Given the description of an element on the screen output the (x, y) to click on. 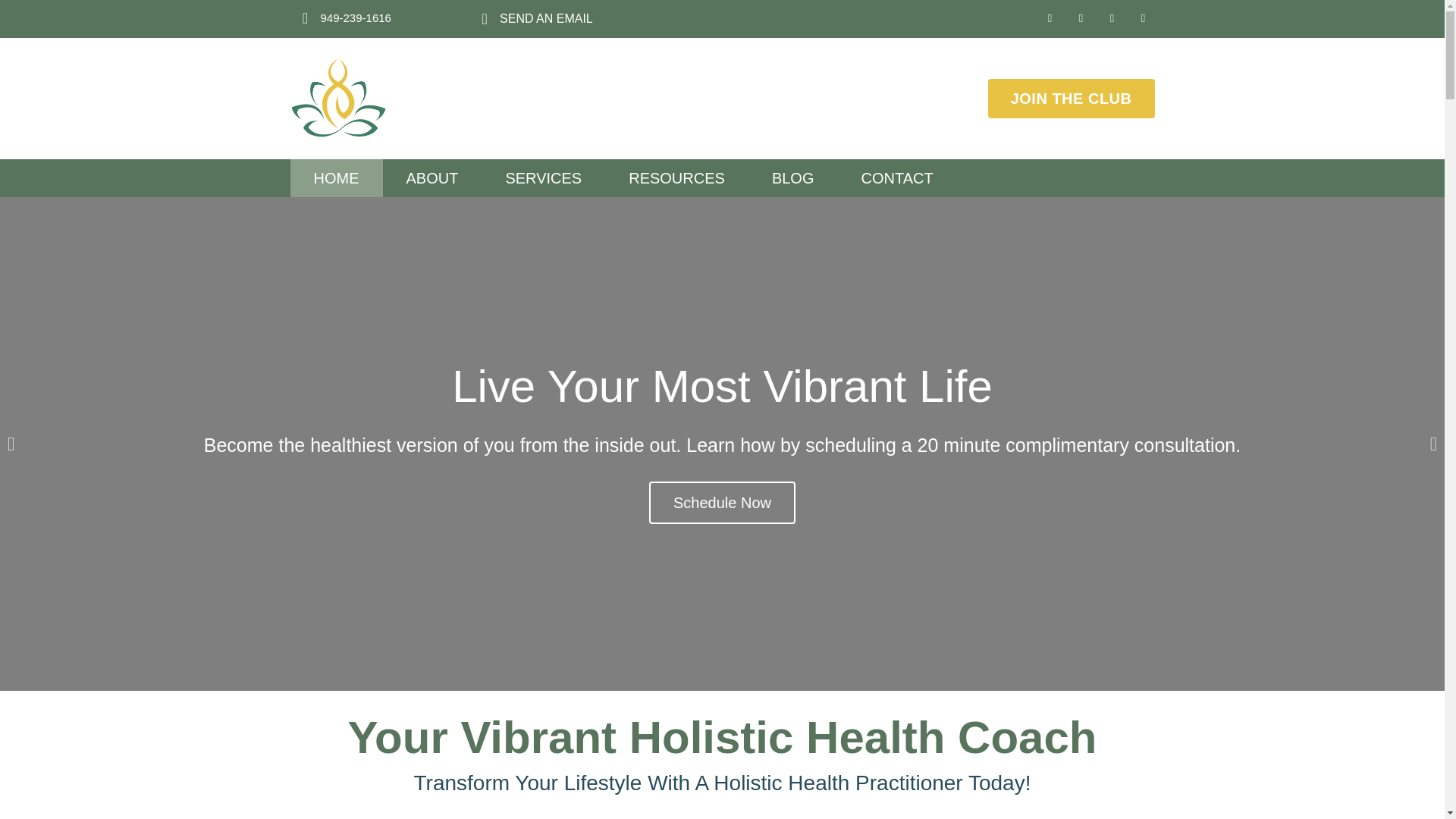
ABOUT (431, 177)
HOME (335, 177)
Instagram (1049, 18)
BLOG (793, 177)
SEND AN EMAIL (545, 18)
Youtube (1080, 18)
CONTACT (896, 177)
949-239-1616 (355, 17)
Facebook (1111, 18)
Pinterest (1142, 18)
RESOURCES (676, 177)
JOIN THE CLUB (1071, 97)
SERVICES (543, 177)
